Given the description of an element on the screen output the (x, y) to click on. 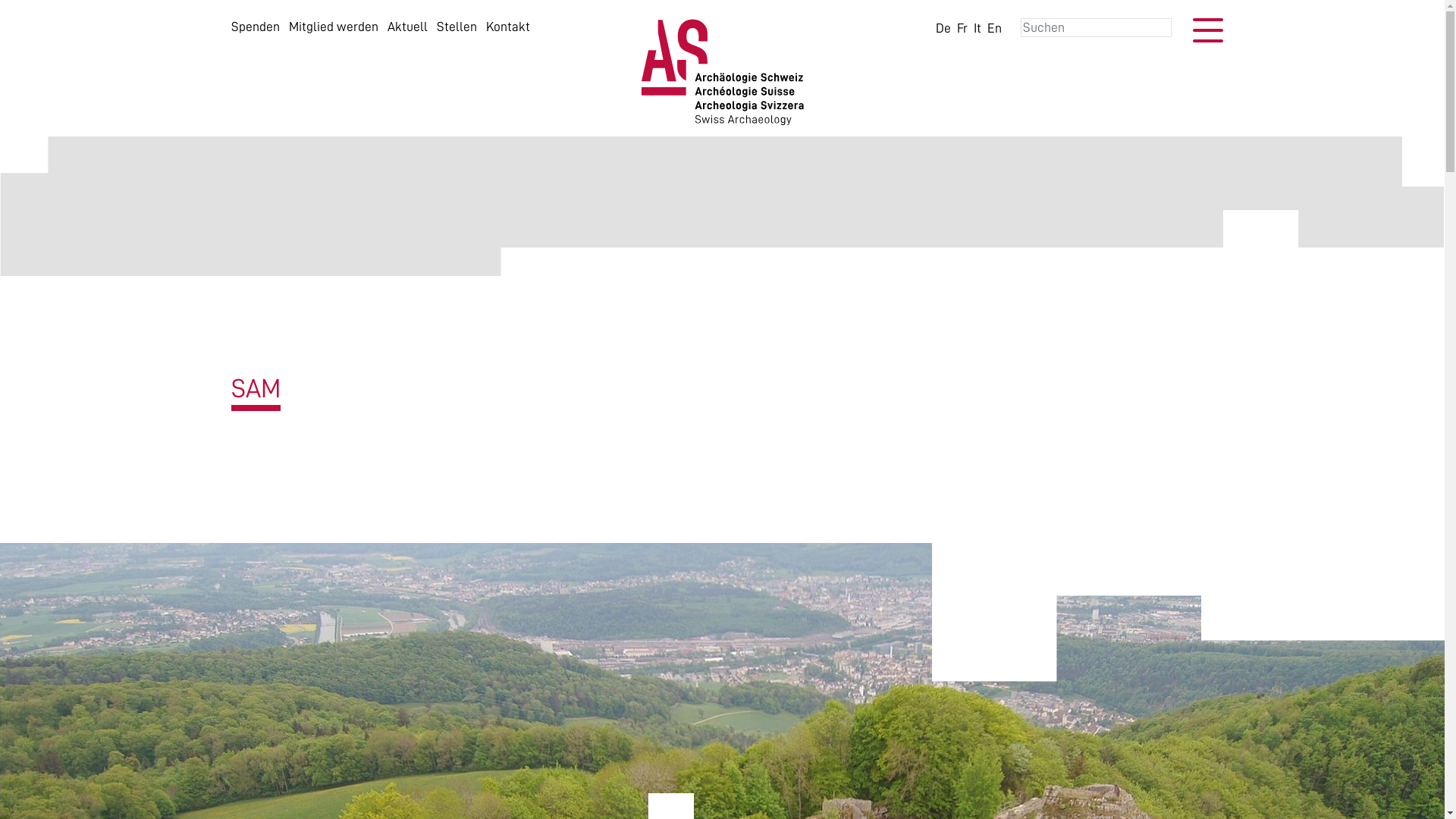
De Element type: text (942, 27)
Fr Element type: text (962, 27)
Aktuell Element type: text (406, 26)
Stellen Element type: text (456, 26)
En Element type: text (994, 27)
Search Element type: text (41, 12)
Mitglied werden Element type: text (332, 26)
It Element type: text (977, 27)
Spenden Element type: text (254, 26)
Kontakt Element type: text (507, 26)
